Given the description of an element on the screen output the (x, y) to click on. 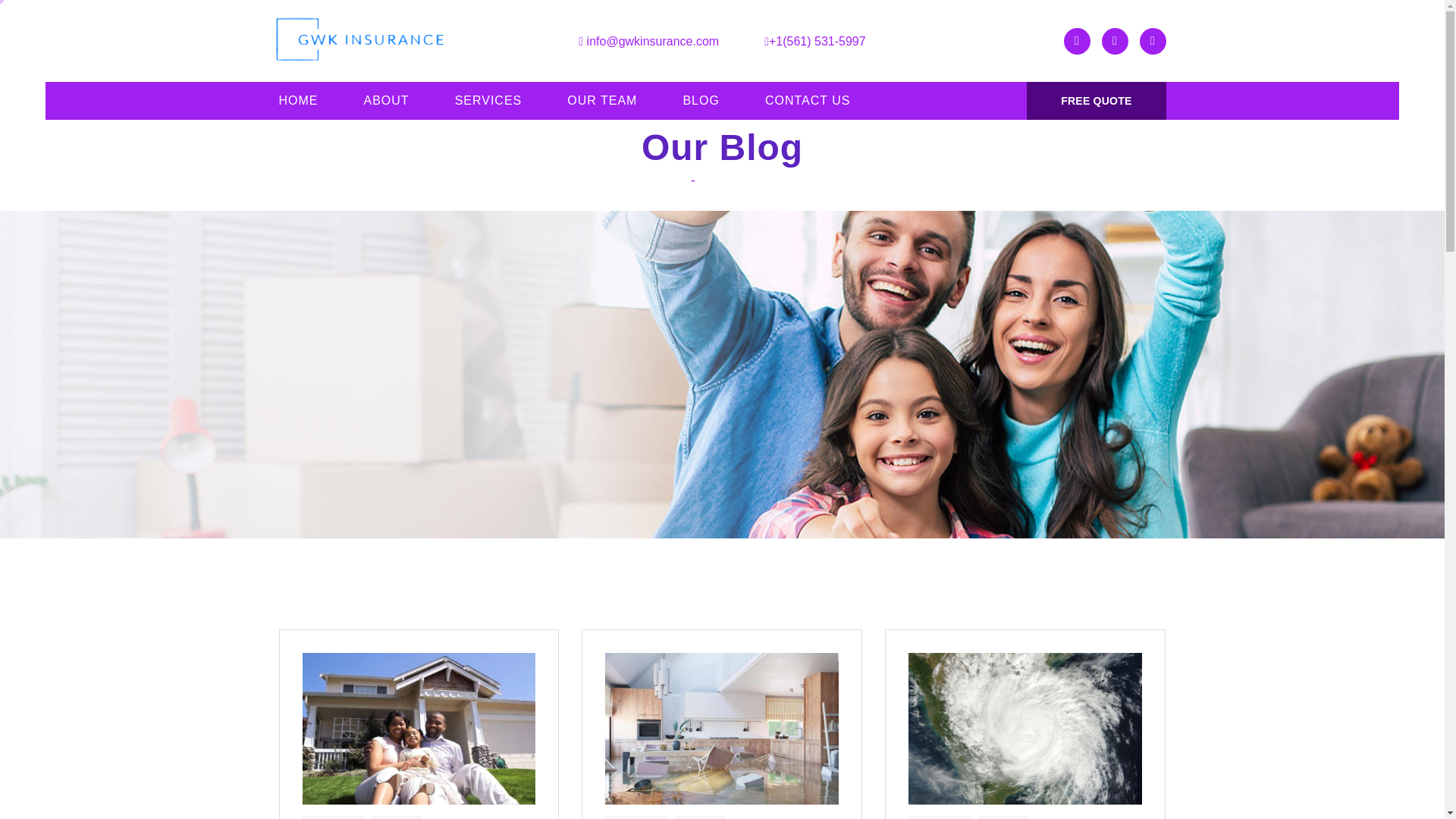
FREE QUOTE (1096, 100)
SERVICES (488, 100)
OUR TEAM (602, 100)
ABOUT (386, 100)
HOME (298, 100)
CONTACT US (807, 100)
BLOG (700, 100)
